Given the description of an element on the screen output the (x, y) to click on. 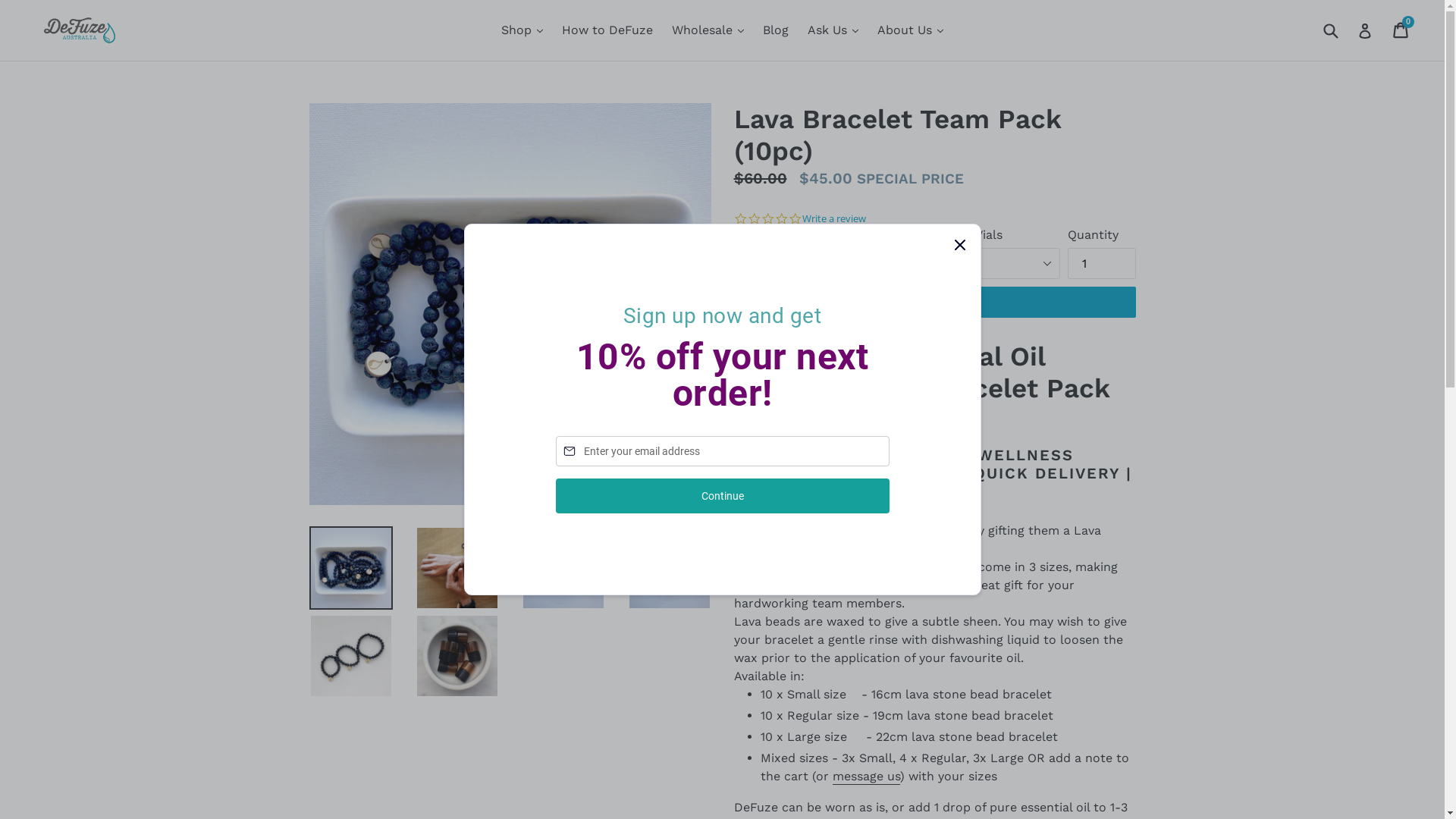
Submit Element type: text (1329, 29)
Continue Element type: text (721, 495)
Write a review Element type: text (834, 218)
Log in Element type: text (1364, 30)
Blog Element type: text (775, 29)
message us Element type: text (866, 776)
Cart
Cart
0 Element type: text (1401, 29)
ADD TO CART Element type: text (934, 302)
How to DeFuze Element type: text (607, 29)
